Given the description of an element on the screen output the (x, y) to click on. 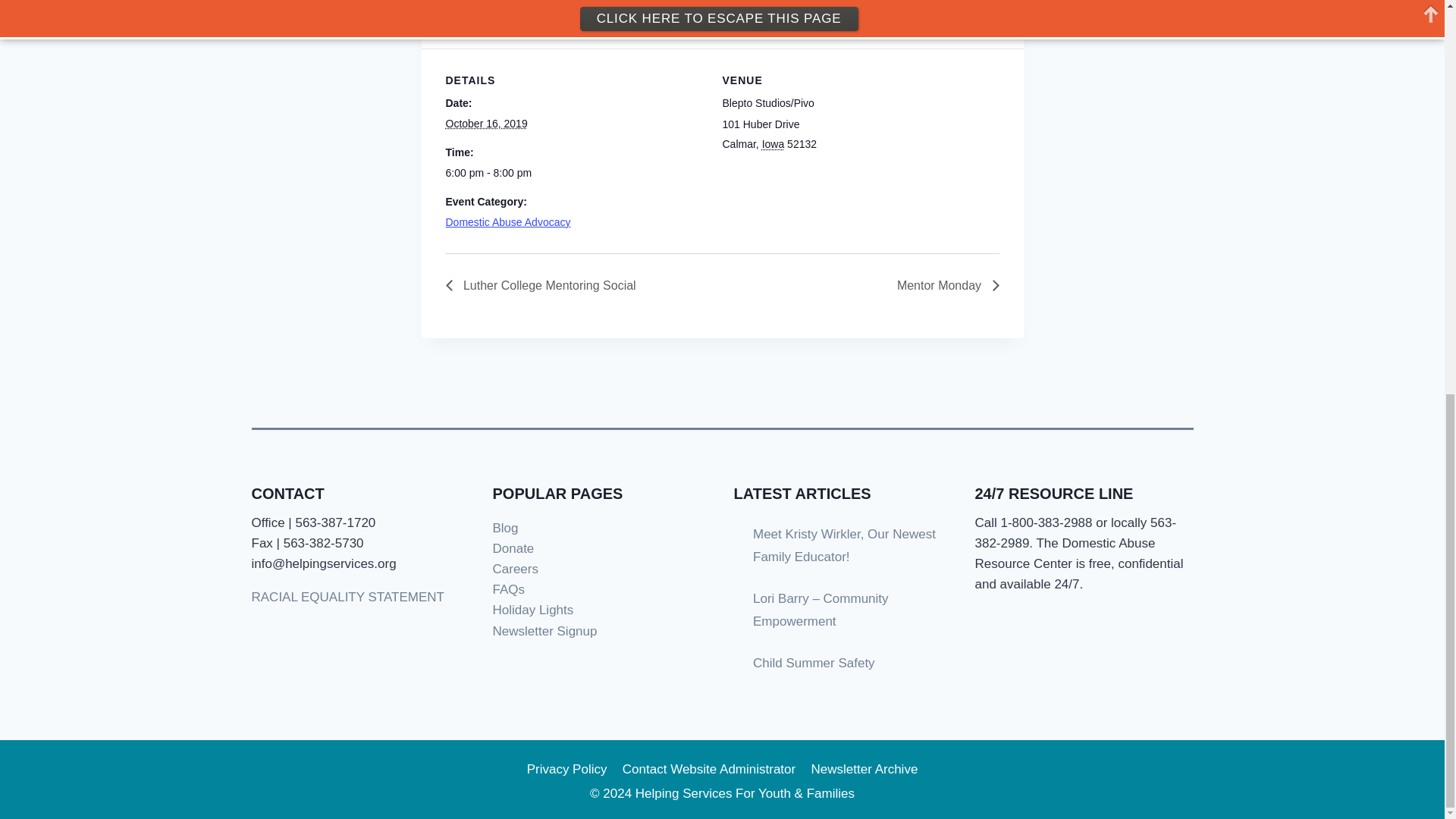
2019-10-16 (574, 172)
Iowa (772, 143)
2019-10-16 (486, 123)
